Given the description of an element on the screen output the (x, y) to click on. 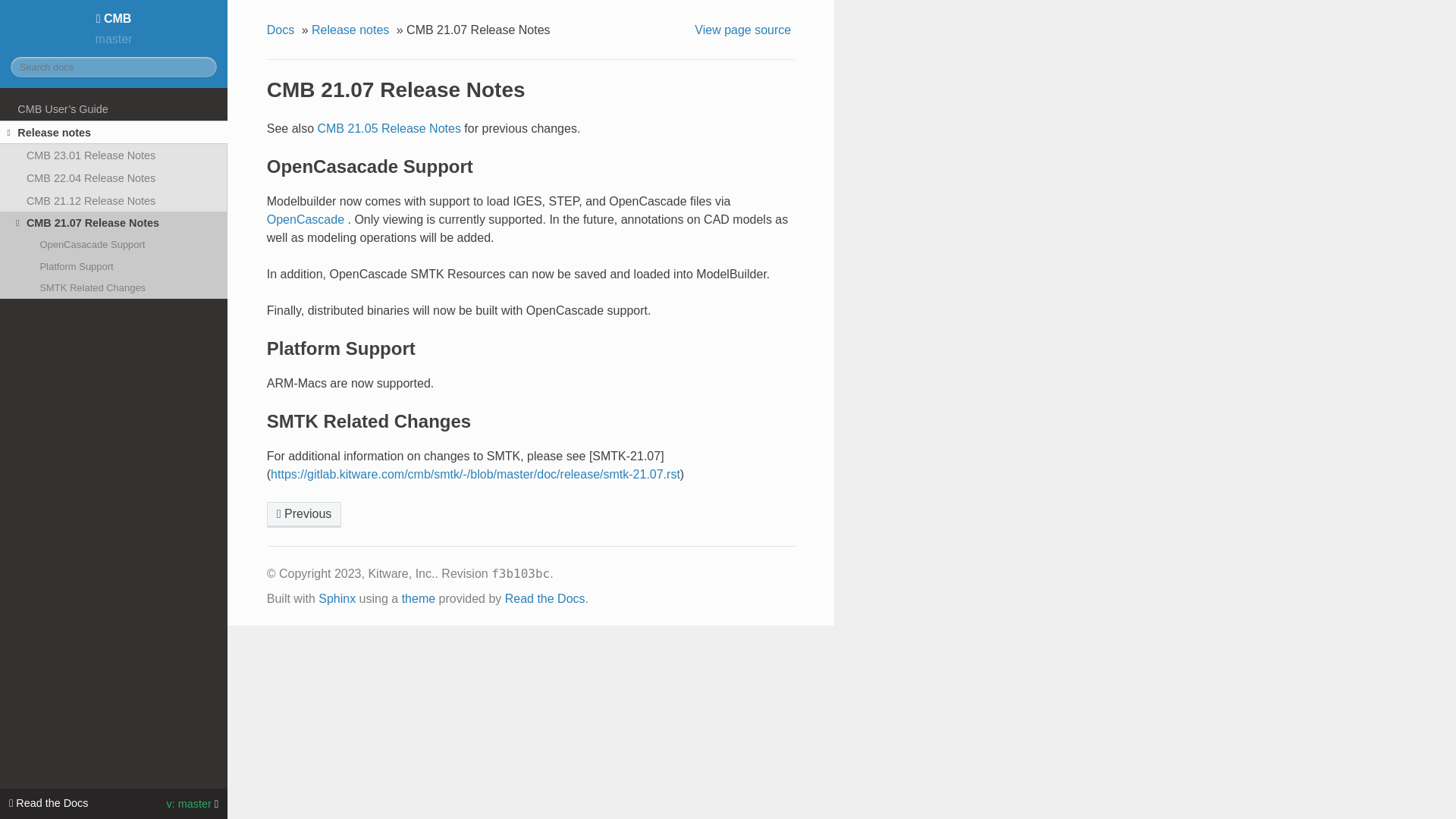
SMTK Related Changes (113, 287)
CMB 21.12 Release Notes (304, 514)
CMB 22.04 Release Notes (113, 178)
Platform Support (113, 265)
OpenCascade (304, 219)
theme (418, 598)
Sphinx (336, 598)
Previous (304, 514)
CMB 23.01 Release Notes (113, 155)
CMB 21.07 Release Notes (113, 222)
View page source (744, 29)
CMB 21.12 Release Notes (113, 200)
Release notes (113, 132)
Docs (282, 29)
Release notes (352, 29)
